Given the description of an element on the screen output the (x, y) to click on. 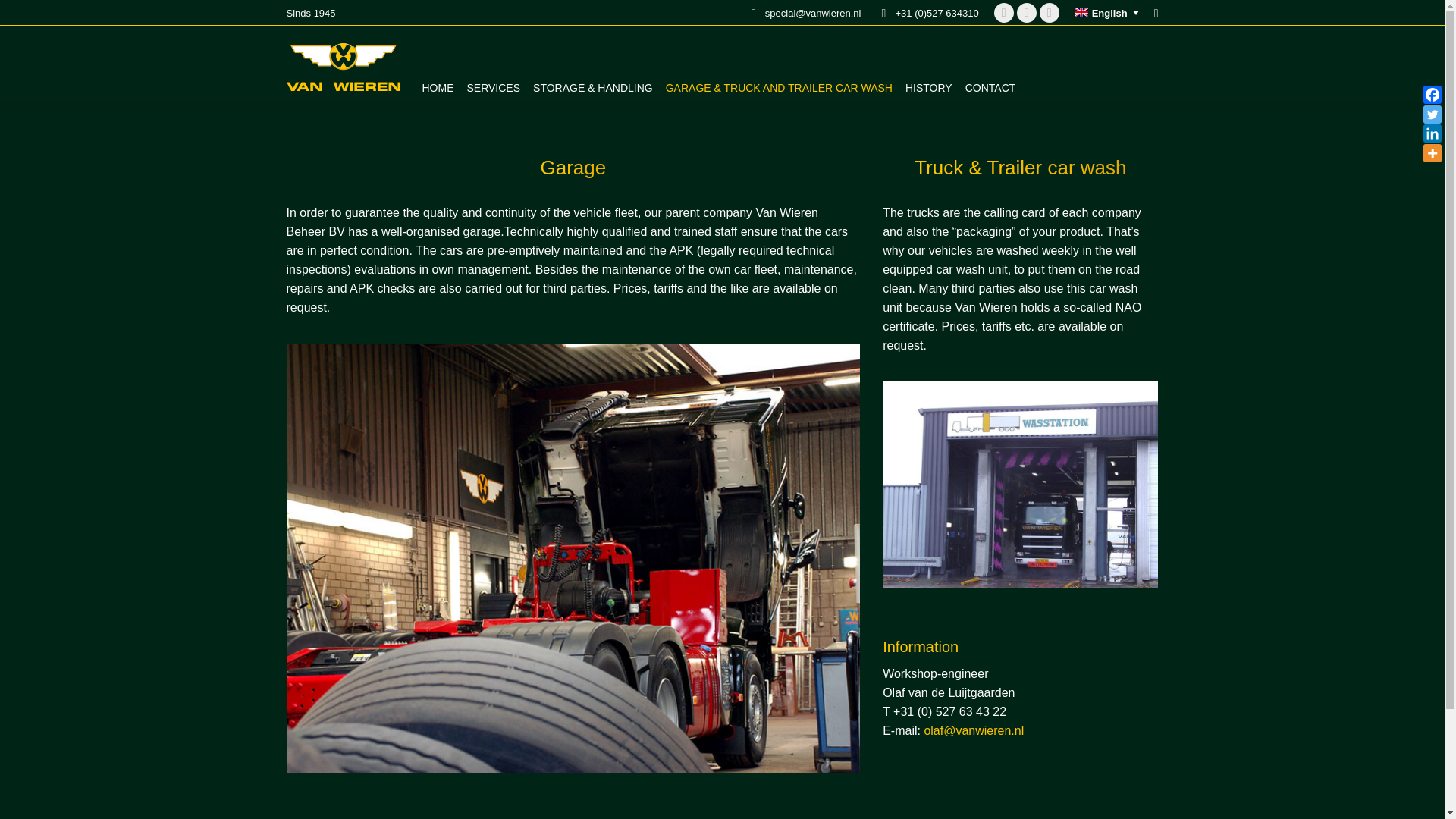
Go! (23, 15)
English (1106, 12)
Twitter (1432, 114)
Facebook (1432, 94)
More (1432, 153)
Facebook page opens in new window (1049, 12)
CONTACT (987, 62)
Linkedin (1432, 133)
YouTube page opens in new window (1003, 12)
Facebook page opens in new window (1049, 12)
Linkedin page opens in new window (1026, 12)
YouTube page opens in new window (1003, 12)
HOME (434, 62)
HISTORY (925, 62)
